Given the description of an element on the screen output the (x, y) to click on. 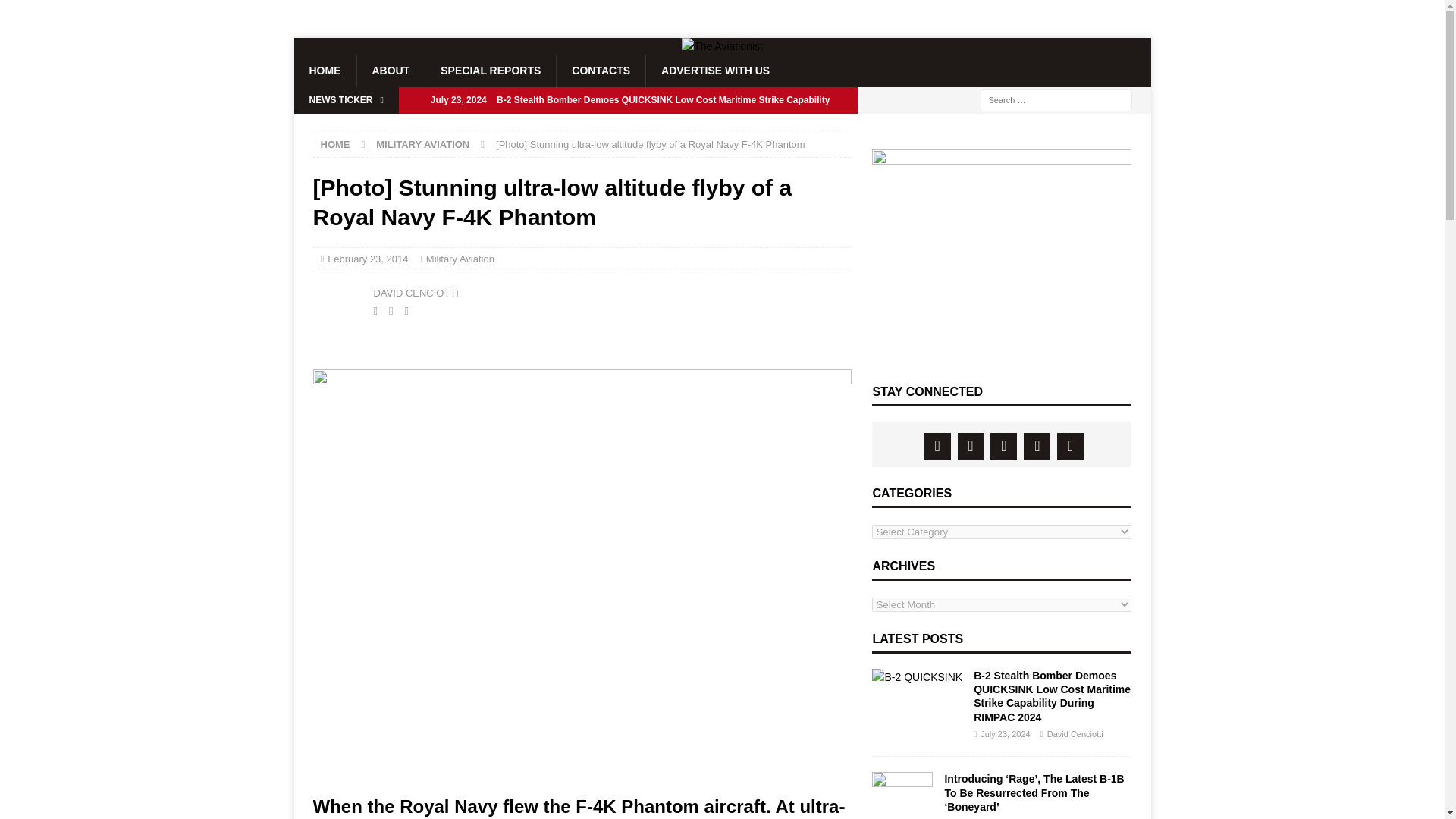
SPECIAL REPORTS (490, 70)
ADVERTISE WITH US (714, 70)
ABOUT (390, 70)
CONTACTS (600, 70)
MILITARY AVIATION (421, 143)
DAVID CENCIOTTI (415, 292)
Military Aviation (460, 258)
Search (56, 11)
HOME (325, 70)
HOME (334, 143)
David Cenciotti (339, 300)
The Aviationist (721, 46)
February 23, 2014 (367, 258)
